Given the description of an element on the screen output the (x, y) to click on. 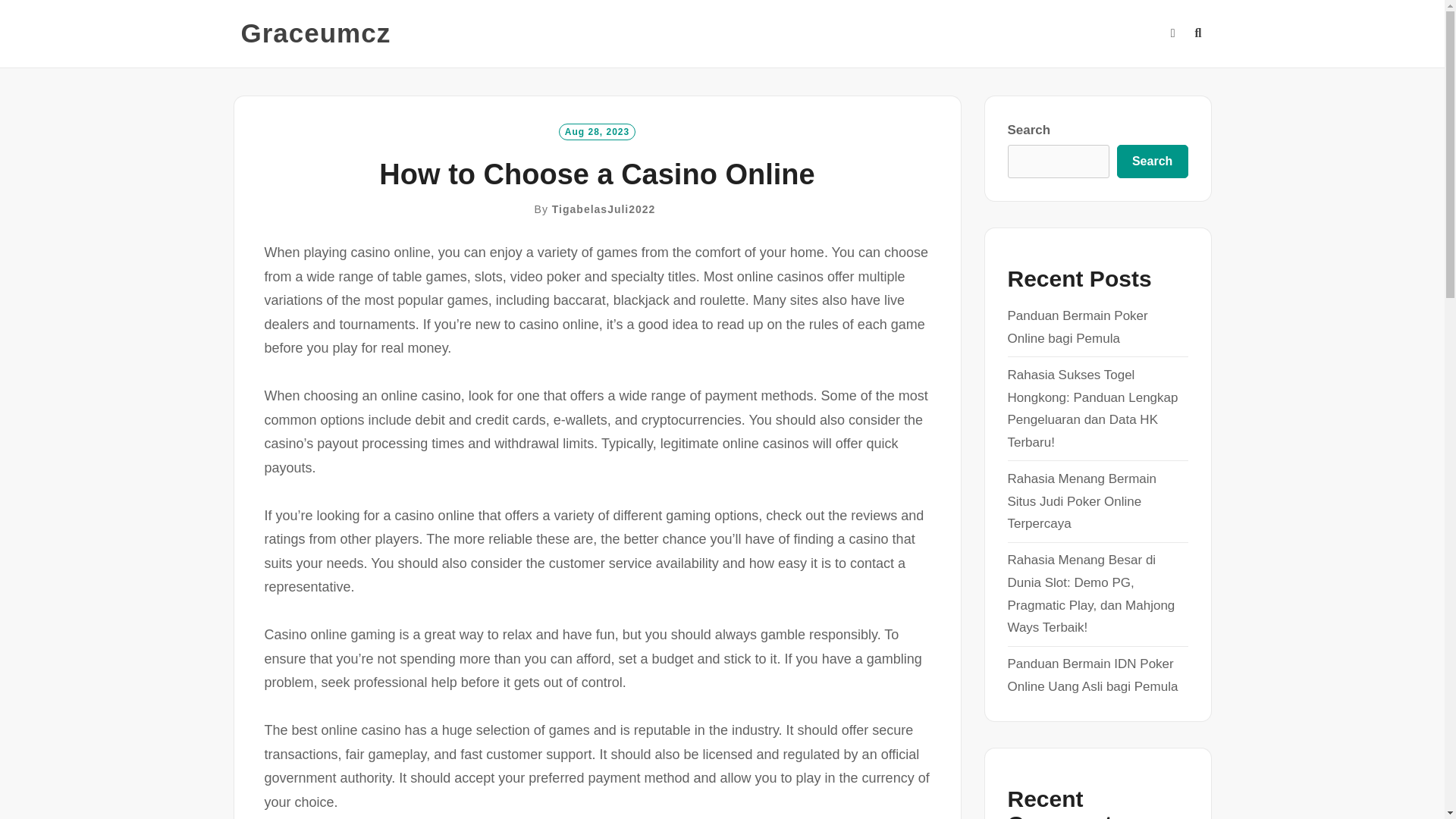
TigabelasJuli2022 (603, 209)
Panduan Bermain IDN Poker Online Uang Asli bagi Pemula (1092, 674)
Rahasia Menang Bermain Situs Judi Poker Online Terpercaya (1081, 501)
Panduan Bermain Poker Online bagi Pemula (1077, 326)
Aug 28, 2023 (596, 130)
Graceumcz (316, 33)
Search (1152, 161)
